Given the description of an element on the screen output the (x, y) to click on. 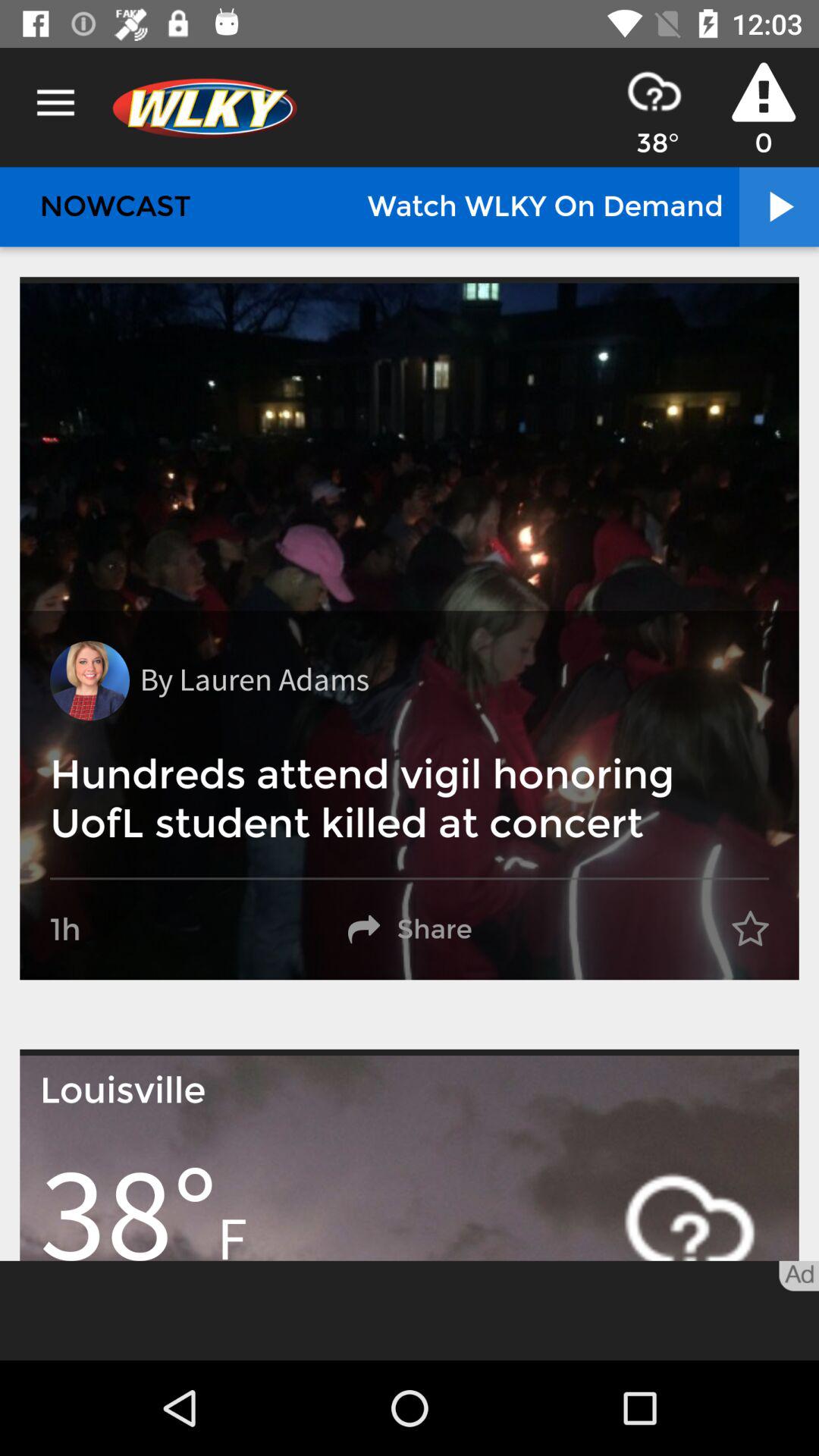
click to open advertisement (409, 1310)
